Given the description of an element on the screen output the (x, y) to click on. 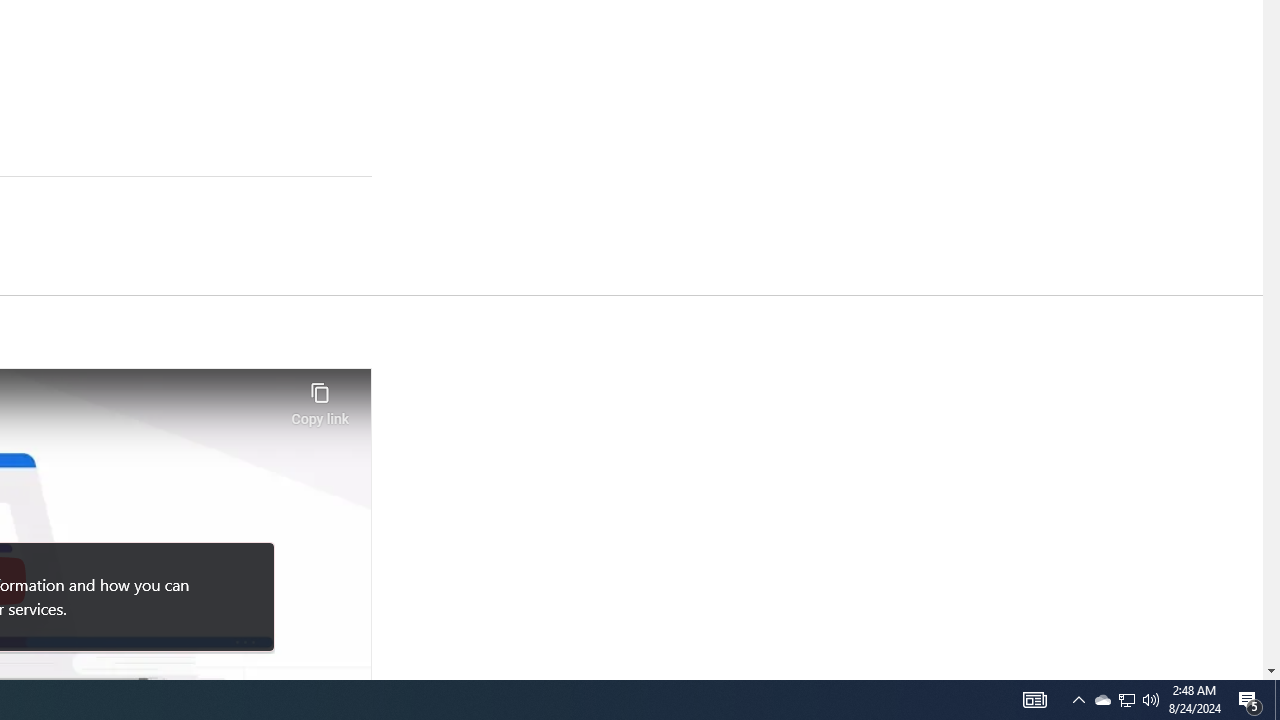
Copy link (319, 398)
